Given the description of an element on the screen output the (x, y) to click on. 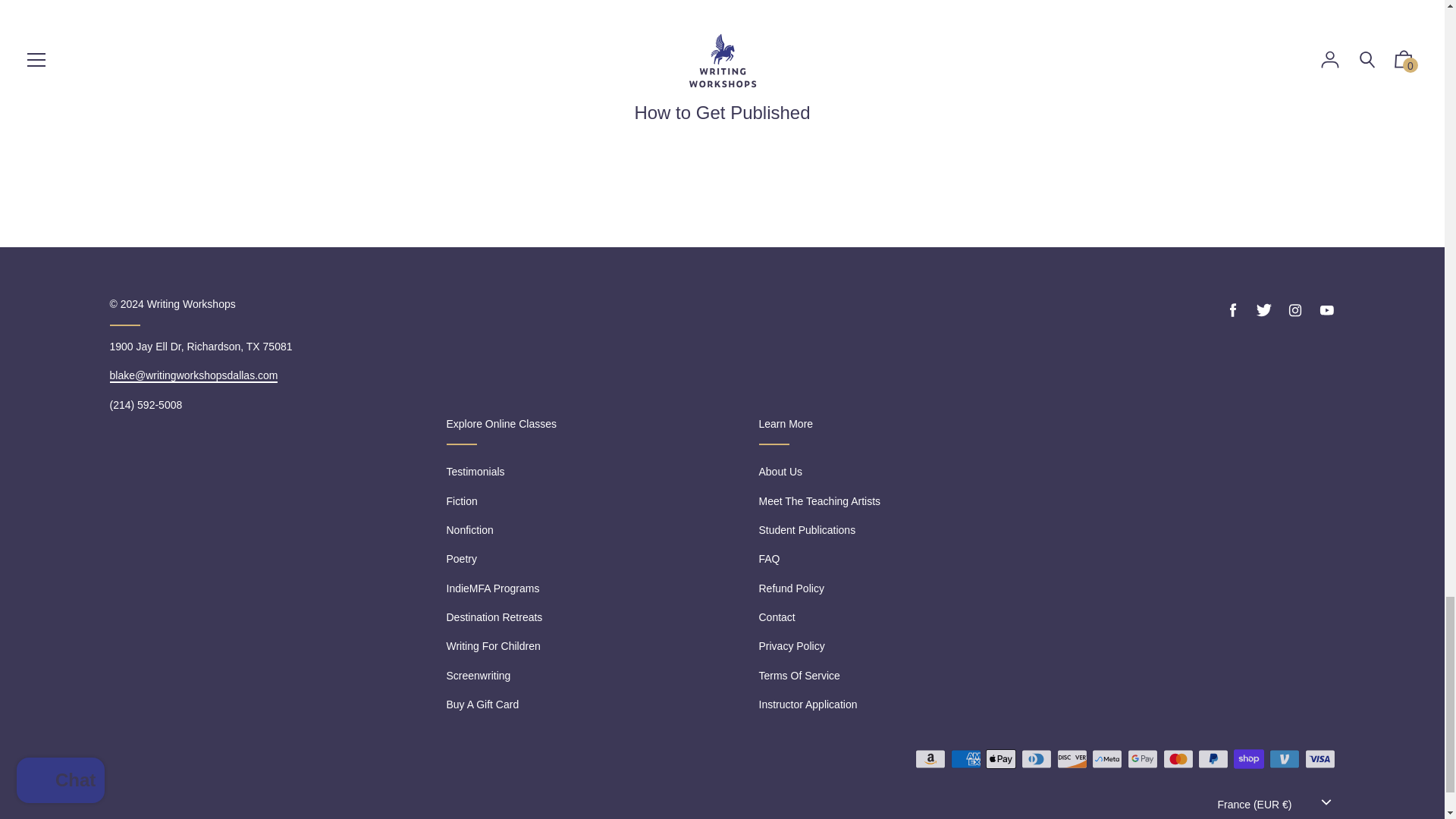
Mastercard (1178, 758)
Amazon (929, 758)
Writing Workshops on Instagram (1295, 310)
Writing Workshops on Twitter (1263, 310)
Apple Pay (1000, 758)
American Express (965, 758)
Shop Pay (1248, 758)
PayPal (1213, 758)
Diners Club (1036, 758)
Discover (1072, 758)
